Given the description of an element on the screen output the (x, y) to click on. 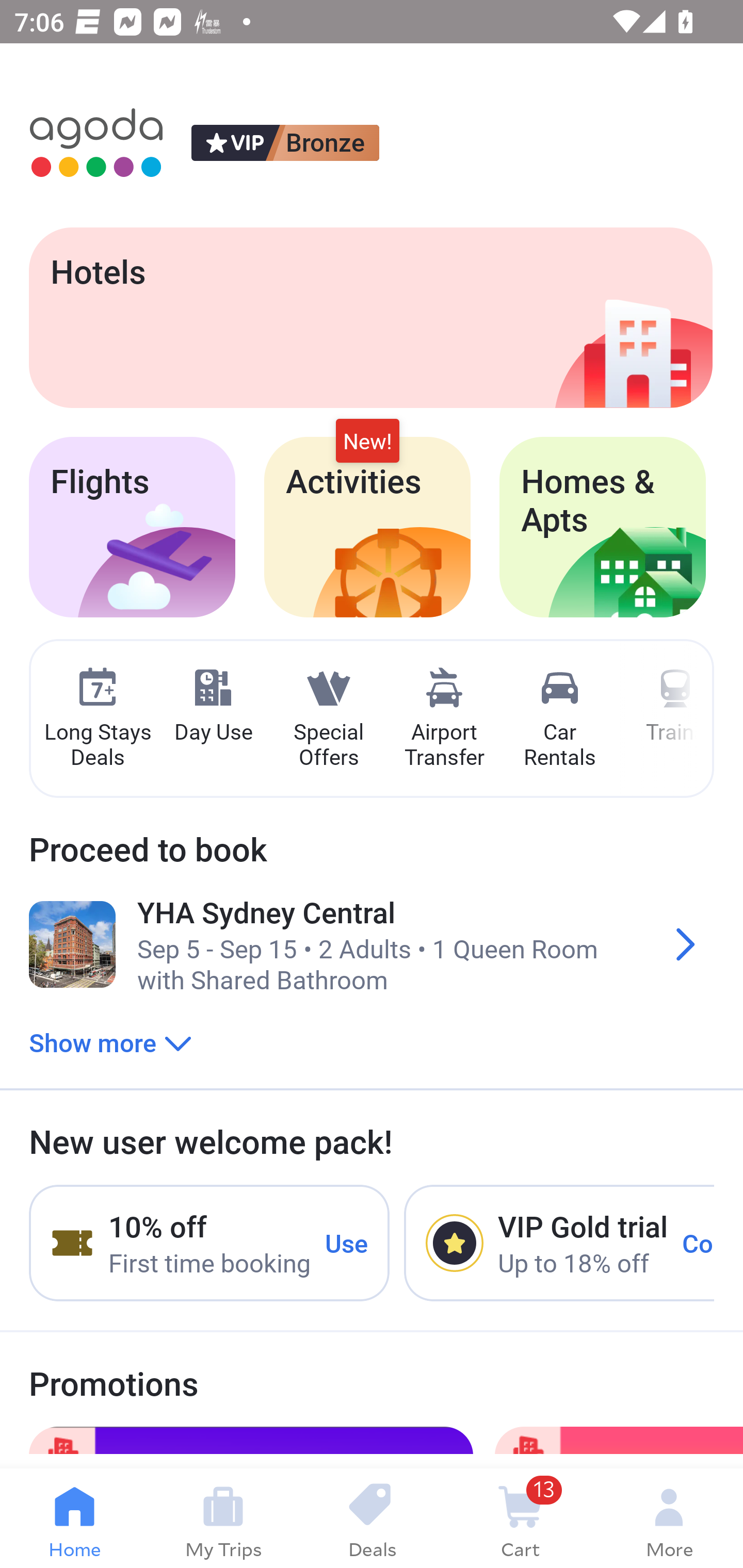
Hotels (370, 317)
New! (367, 441)
Flights (131, 527)
Activities (367, 527)
Homes & Apts (602, 527)
Day Use (213, 706)
Long Stays Deals (97, 718)
Special Offers (328, 718)
Airport Transfer (444, 718)
Car Rentals (559, 718)
Show more (110, 1041)
Use (346, 1242)
Home (74, 1518)
My Trips (222, 1518)
Deals (371, 1518)
13 Cart (519, 1518)
More (668, 1518)
